Given the description of an element on the screen output the (x, y) to click on. 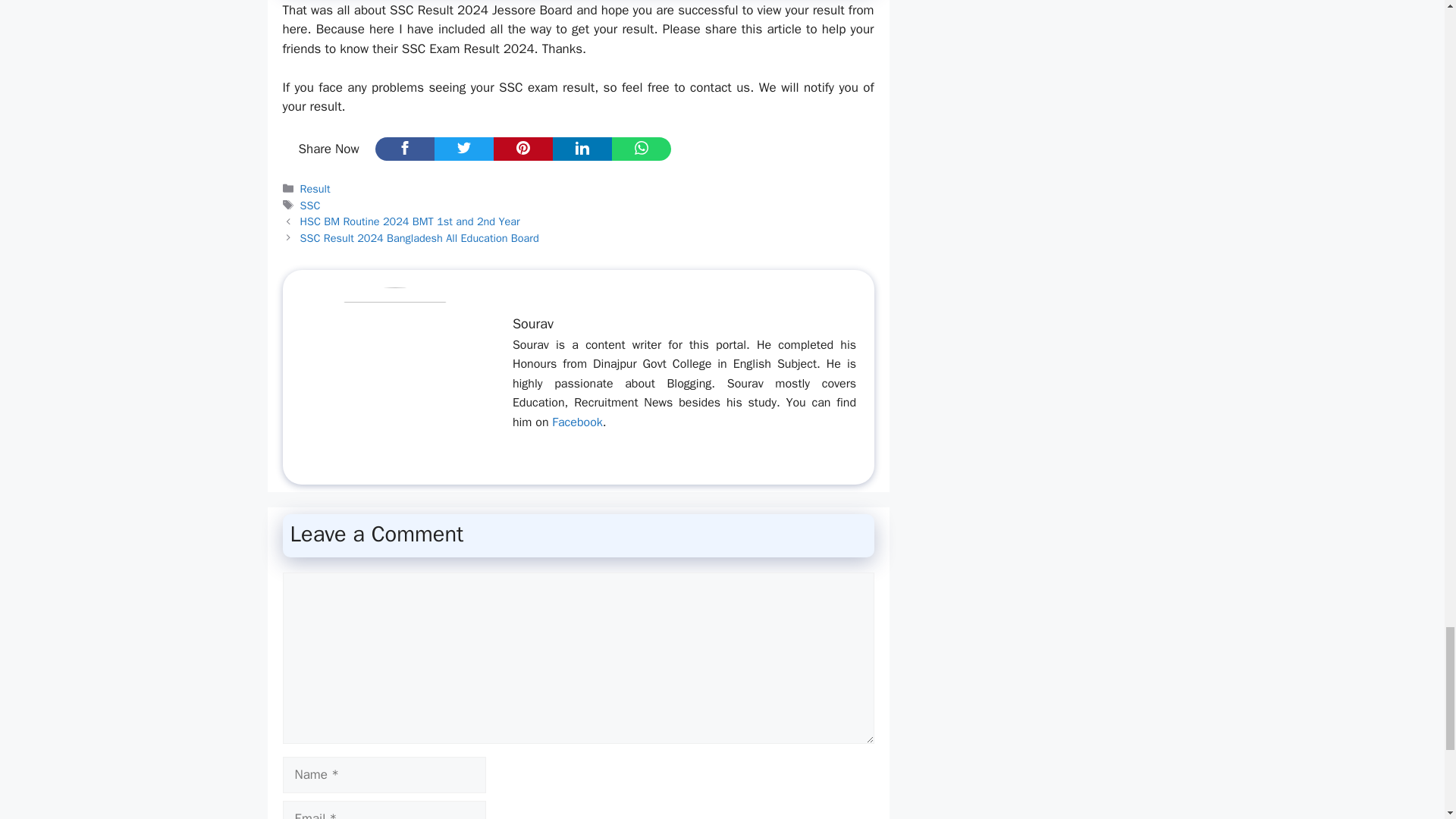
Result (314, 188)
SSC (309, 205)
Facebook (576, 421)
HSC BM Routine 2024 BMT 1st and 2nd Year (409, 221)
SSC Result 2024 Bangladesh All Education Board (418, 237)
